Given the description of an element on the screen output the (x, y) to click on. 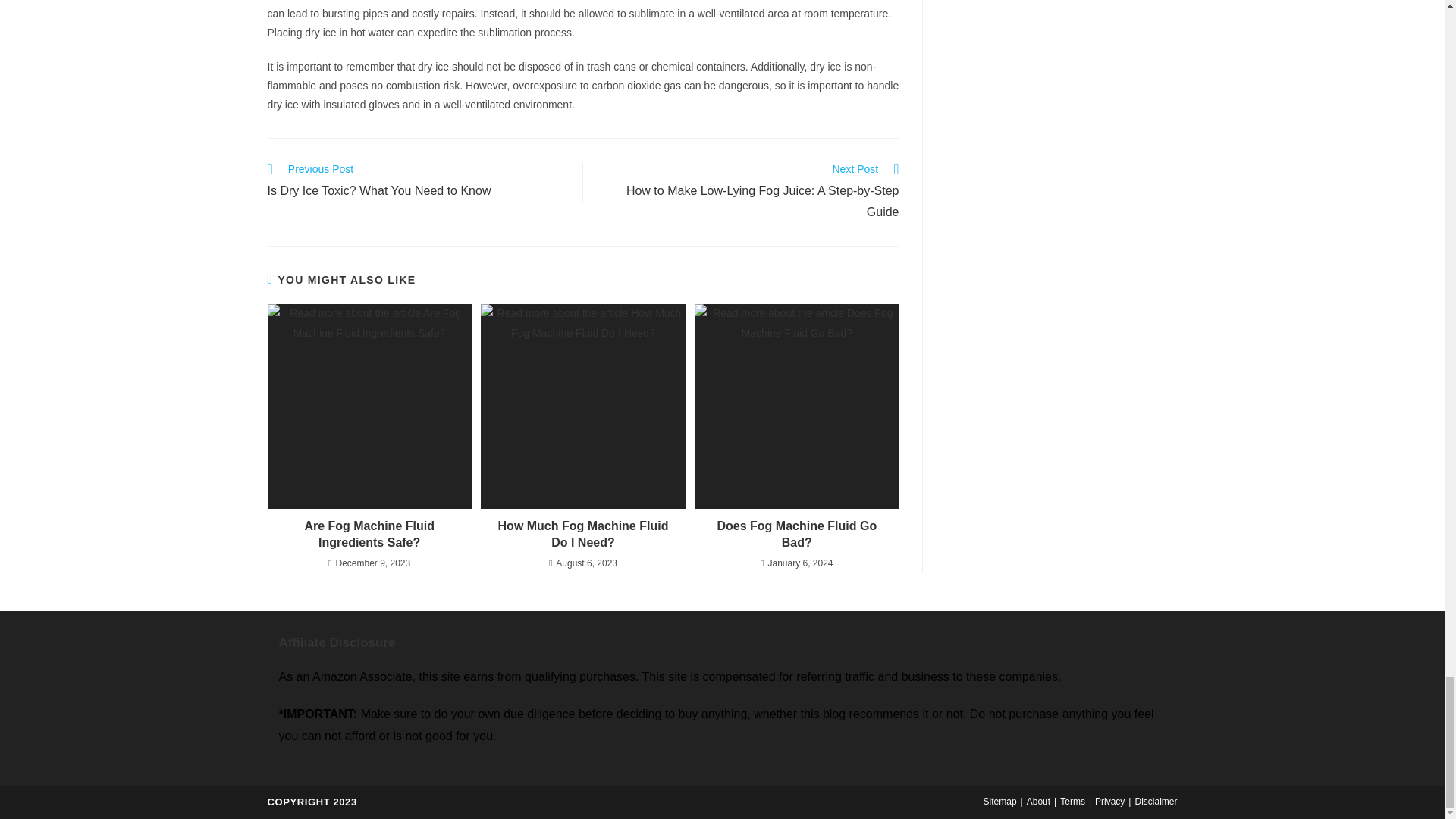
How Much Fog Machine Fluid Do I Need? (582, 534)
Does Fog Machine Fluid Go Bad? (796, 534)
Are Fog Machine Fluid Ingredients Safe? (368, 534)
